Given the description of an element on the screen output the (x, y) to click on. 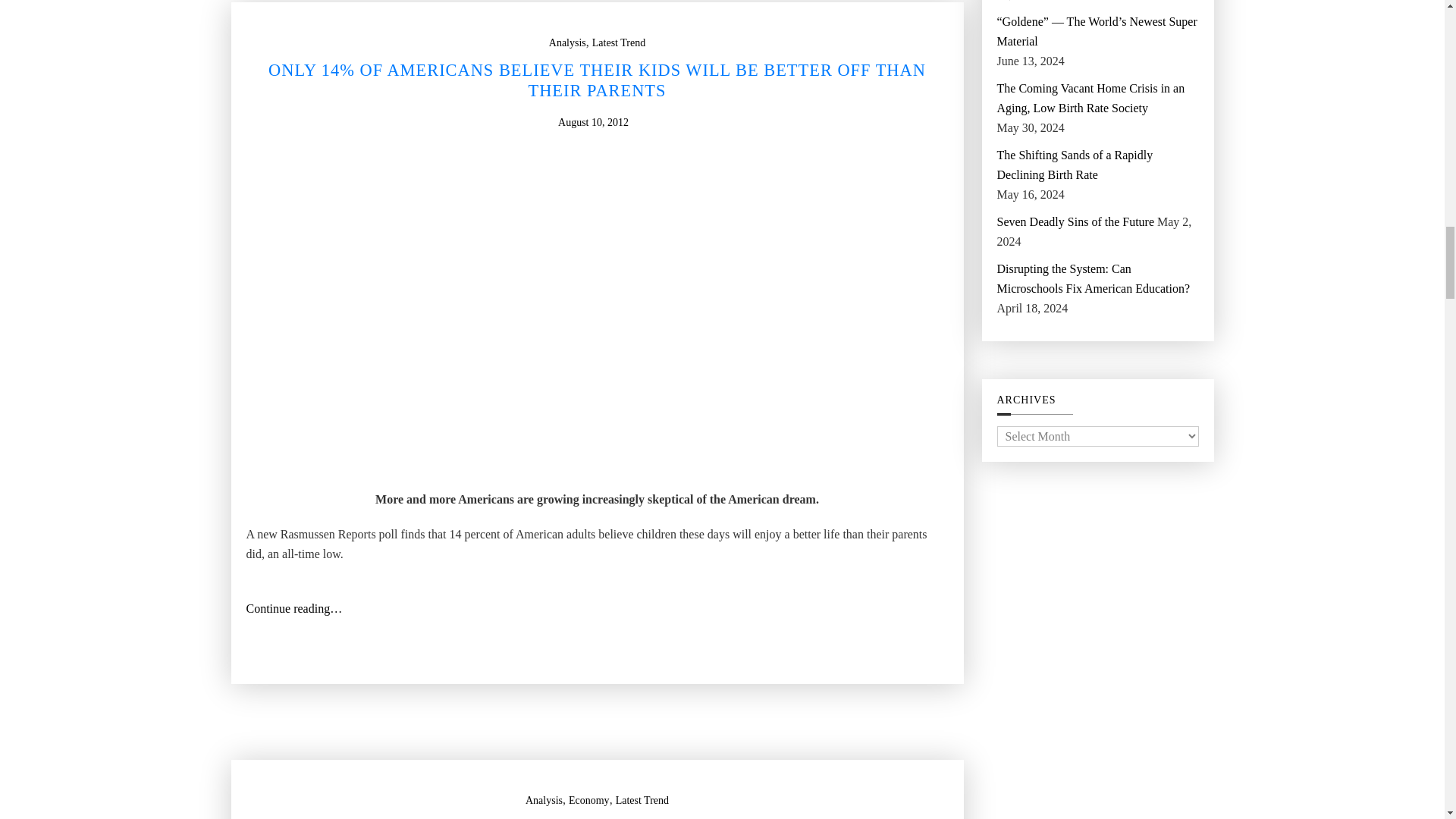
Latest Trend (618, 43)
Analysis (567, 43)
Garden City Girls (597, 330)
August 10, 2012 (592, 122)
